Given the description of an element on the screen output the (x, y) to click on. 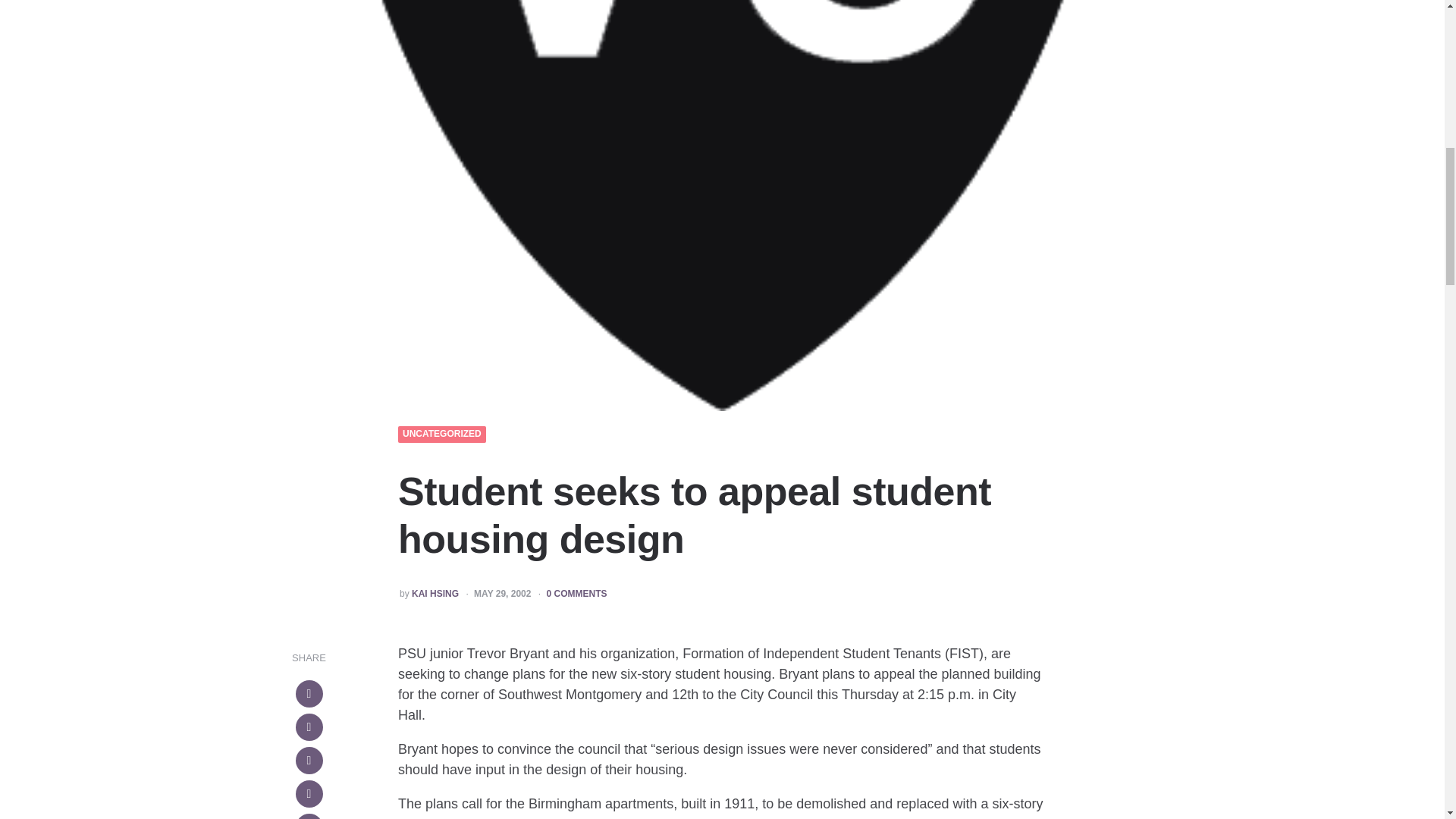
UNCATEGORIZED (442, 434)
0 COMMENTS (577, 593)
KAI HSING (435, 593)
